Given the description of an element on the screen output the (x, y) to click on. 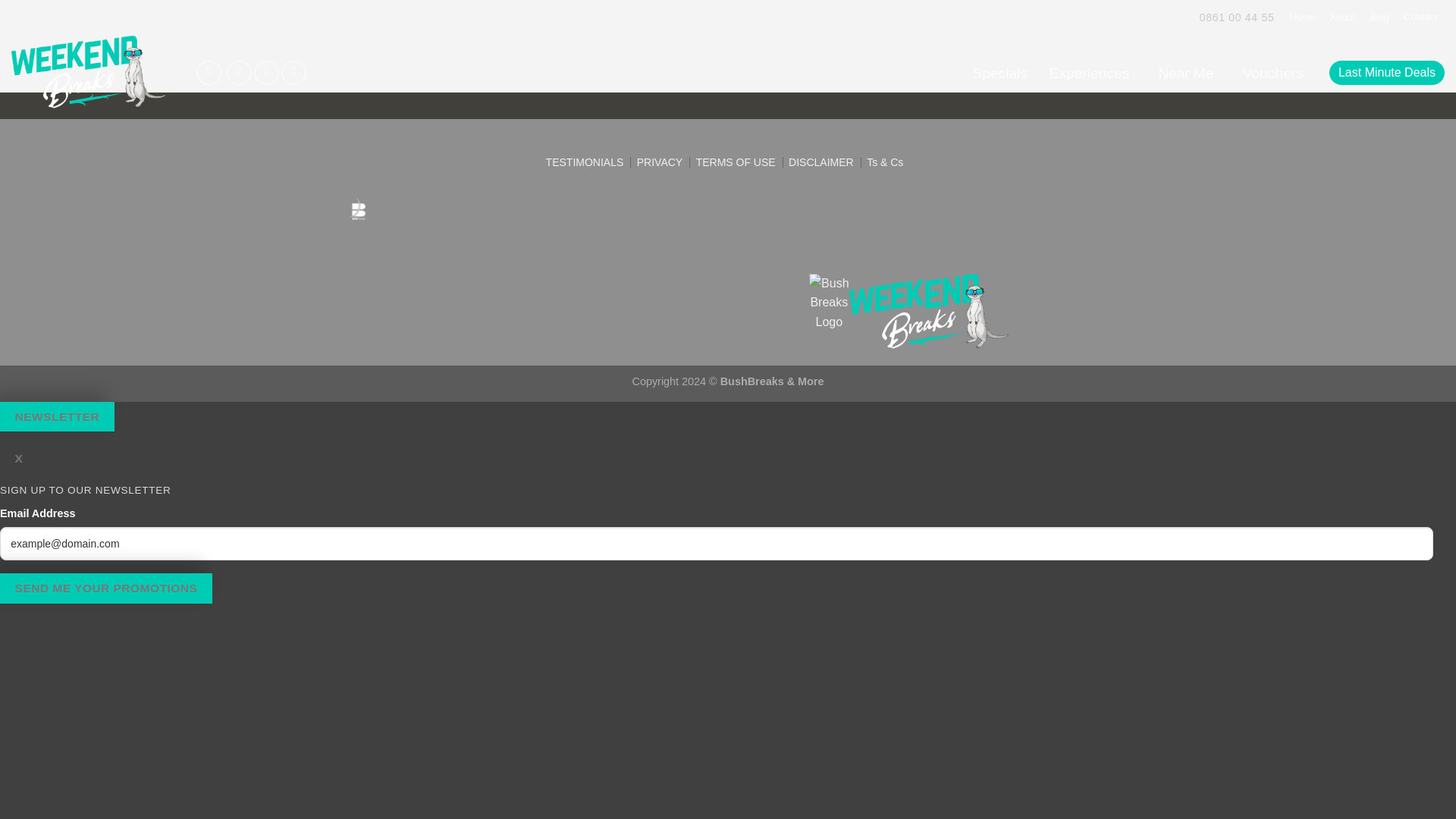
Specials (999, 71)
WeekendBreaks - The Best in South African Weekend Getaways (88, 72)
E-Mail (208, 72)
Contact (1420, 17)
Near Me (1189, 71)
0861 00 44 55 (1237, 17)
Follow on Facebook (239, 72)
Experiences (1092, 71)
About (1342, 17)
Home (1302, 17)
